Given the description of an element on the screen output the (x, y) to click on. 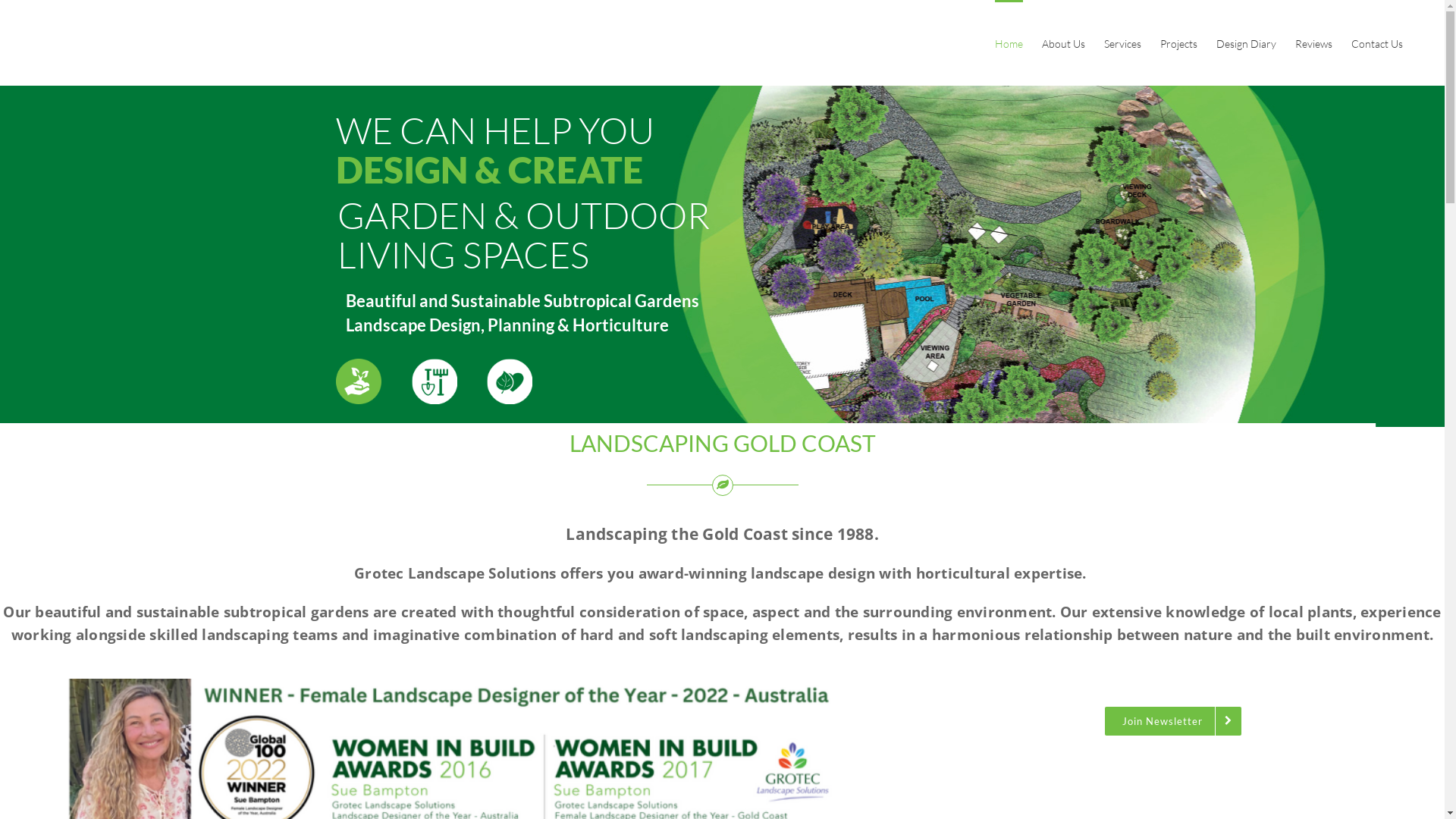
Home Element type: text (1008, 42)
Design Diary Element type: text (1246, 42)
Services Element type: text (1122, 42)
Contact Us Element type: text (1376, 42)
About Us Element type: text (1063, 42)
Projects Element type: text (1178, 42)
Join Newsletter Element type: text (1172, 720)
Reviews Element type: text (1313, 42)
